Given the description of an element on the screen output the (x, y) to click on. 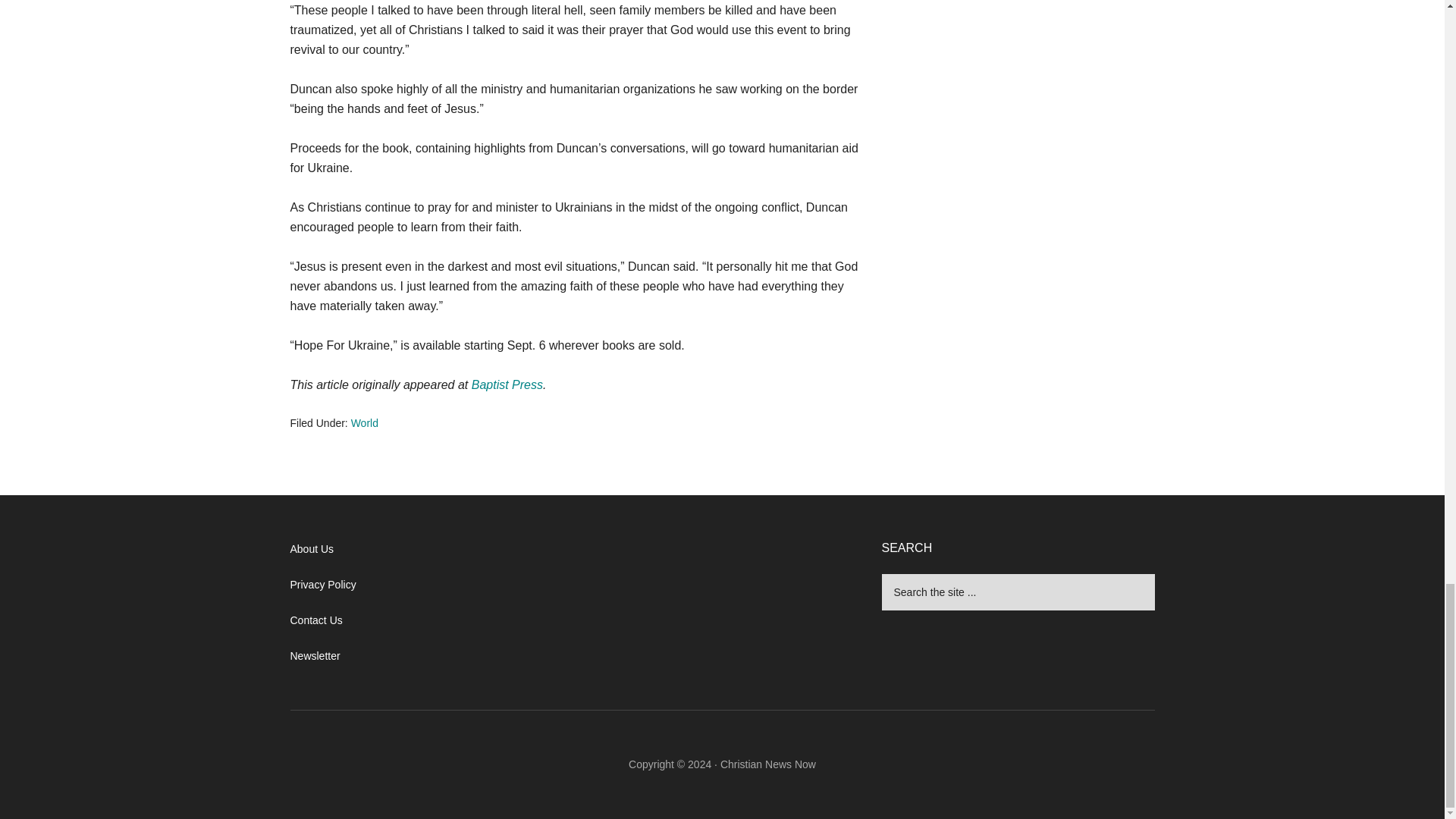
World (364, 422)
Baptist Press (507, 384)
